Given the description of an element on the screen output the (x, y) to click on. 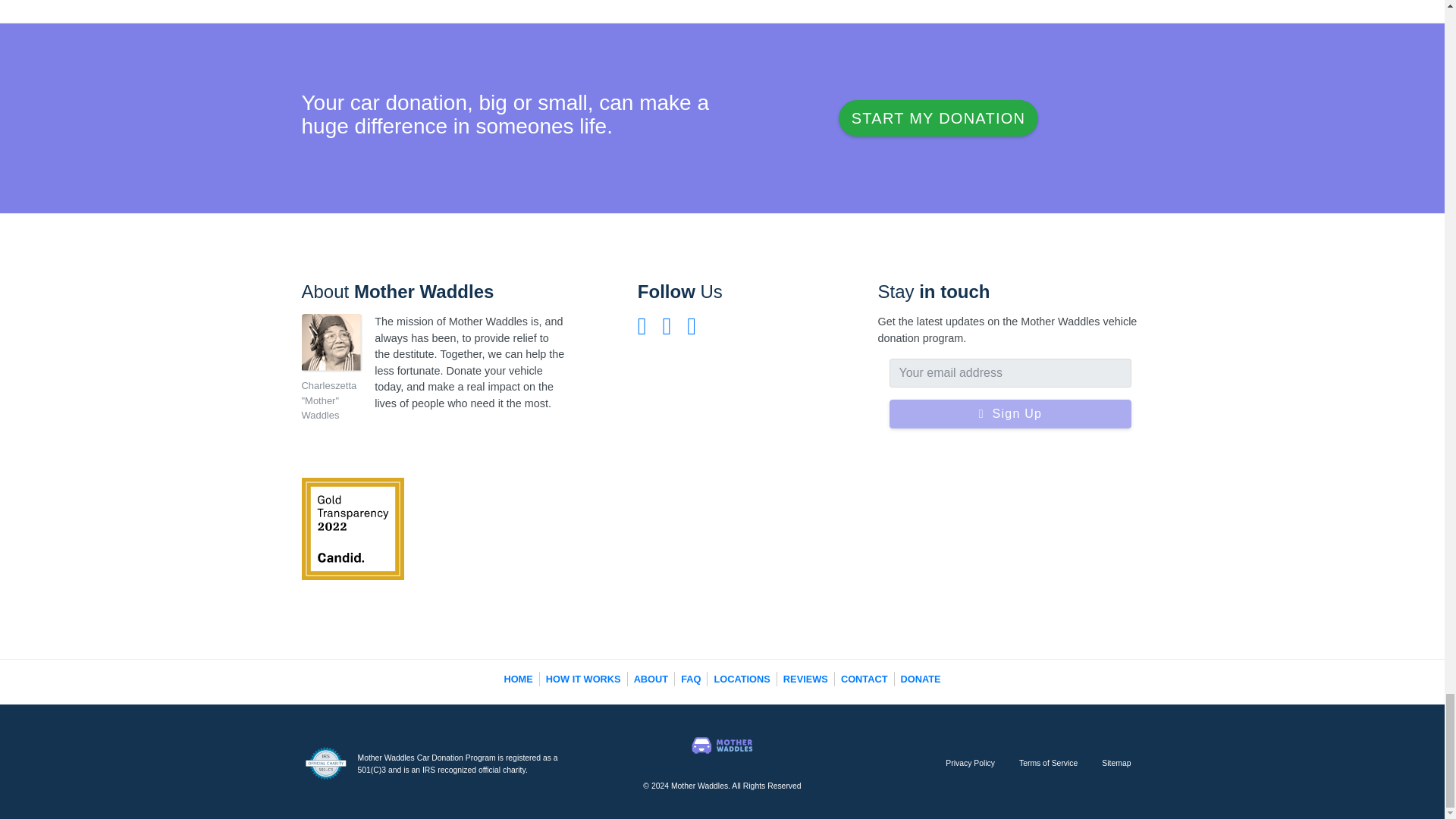
HOME (517, 677)
Sign Up (1009, 413)
START MY DONATION (938, 117)
HOW IT WORKS (583, 677)
